Given the description of an element on the screen output the (x, y) to click on. 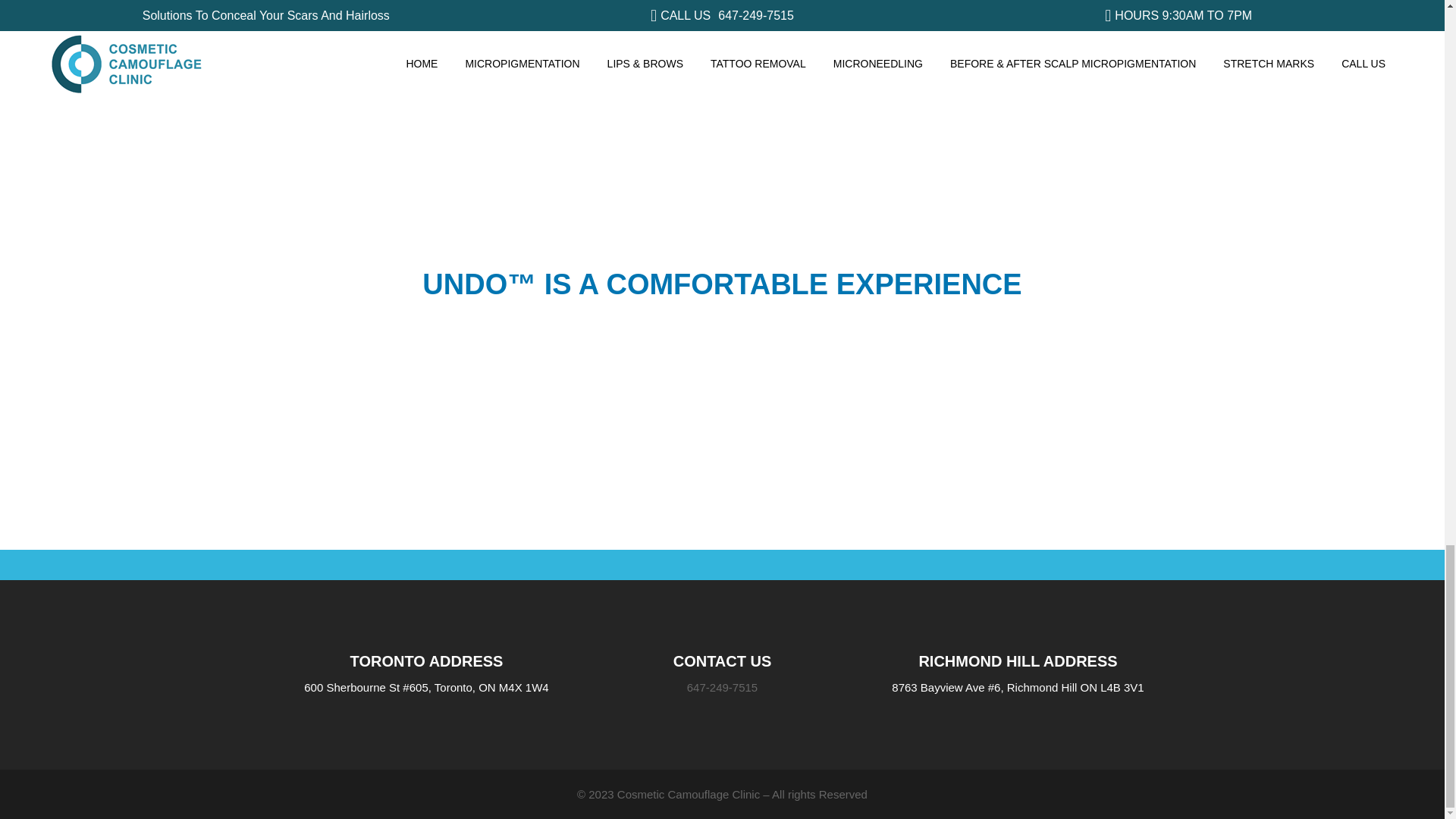
Book An Appointment (1162, 492)
647-249-7515 (722, 686)
